Given the description of an element on the screen output the (x, y) to click on. 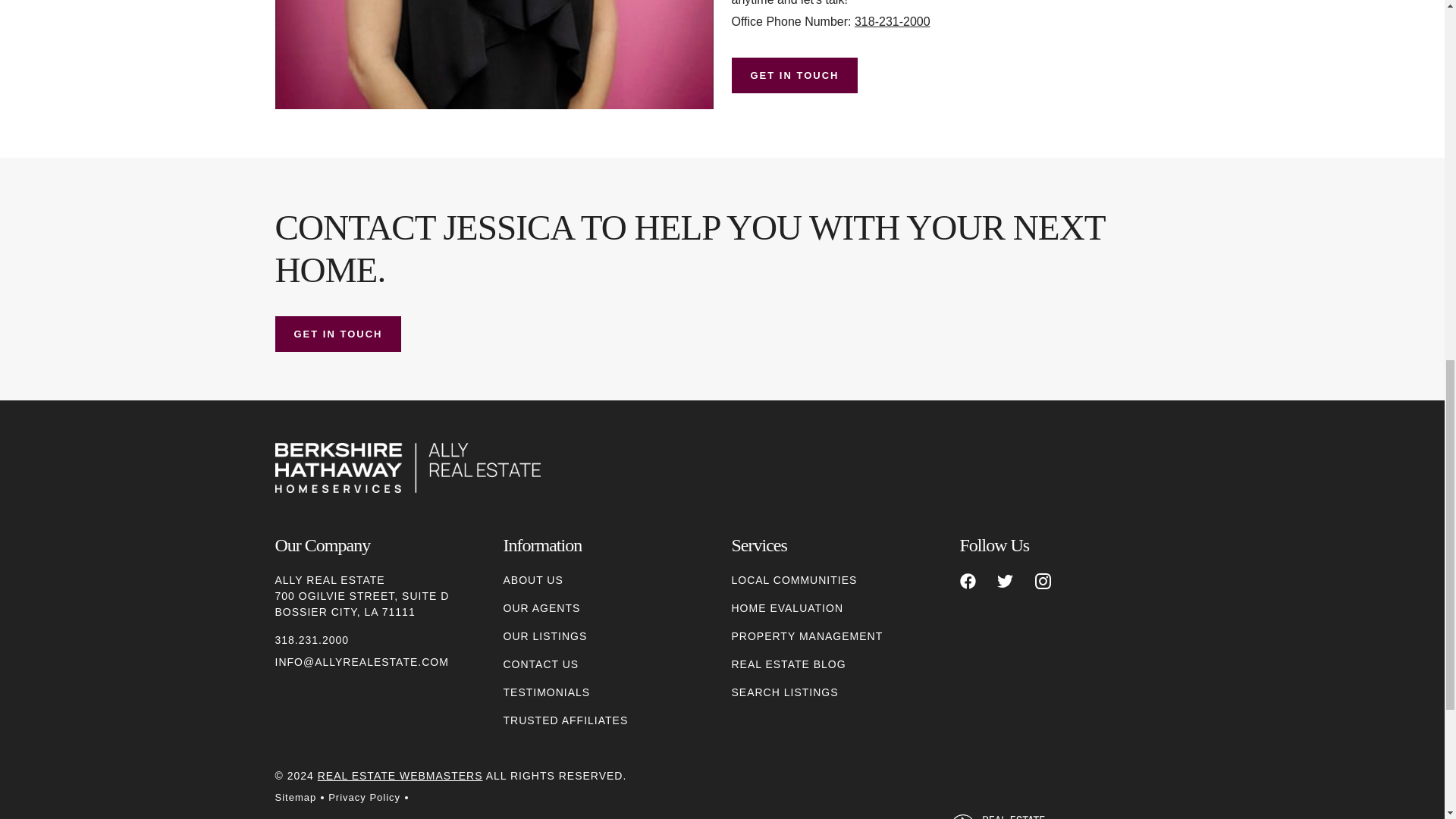
318.231.2000 (312, 640)
GET IN TOUCH (793, 75)
FACEBOOK (967, 580)
GET IN TOUCH (338, 334)
318-231-2000 (892, 21)
TWITTER (1005, 580)
